Given the description of an element on the screen output the (x, y) to click on. 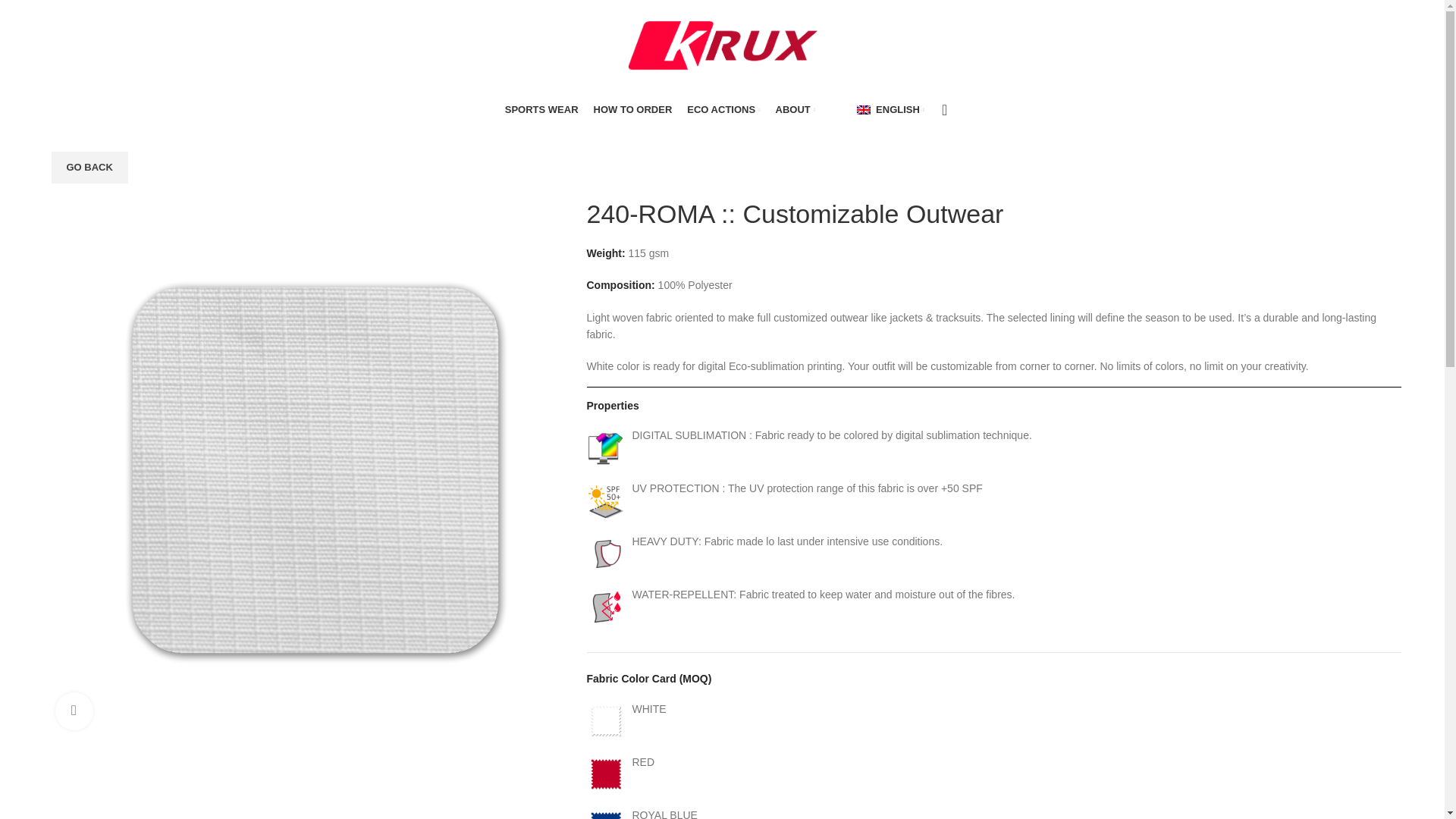
ENGLISH (890, 110)
GO BACK (89, 167)
ECO ACTIONS (723, 110)
SPORTS WEAR (541, 110)
HOW TO ORDER (633, 110)
ABOUT (794, 110)
